Given the description of an element on the screen output the (x, y) to click on. 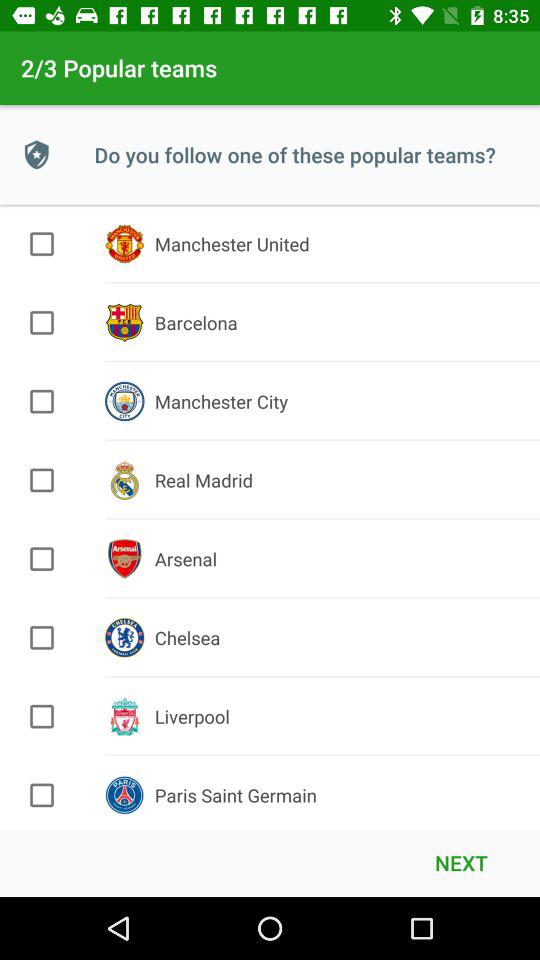
select manchester united (42, 244)
